Given the description of an element on the screen output the (x, y) to click on. 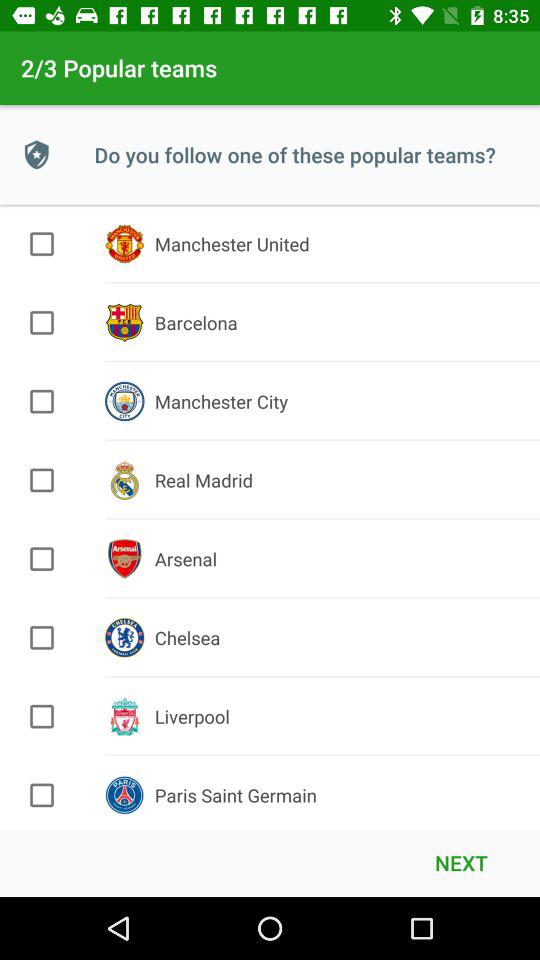
select manchester united (42, 244)
